Given the description of an element on the screen output the (x, y) to click on. 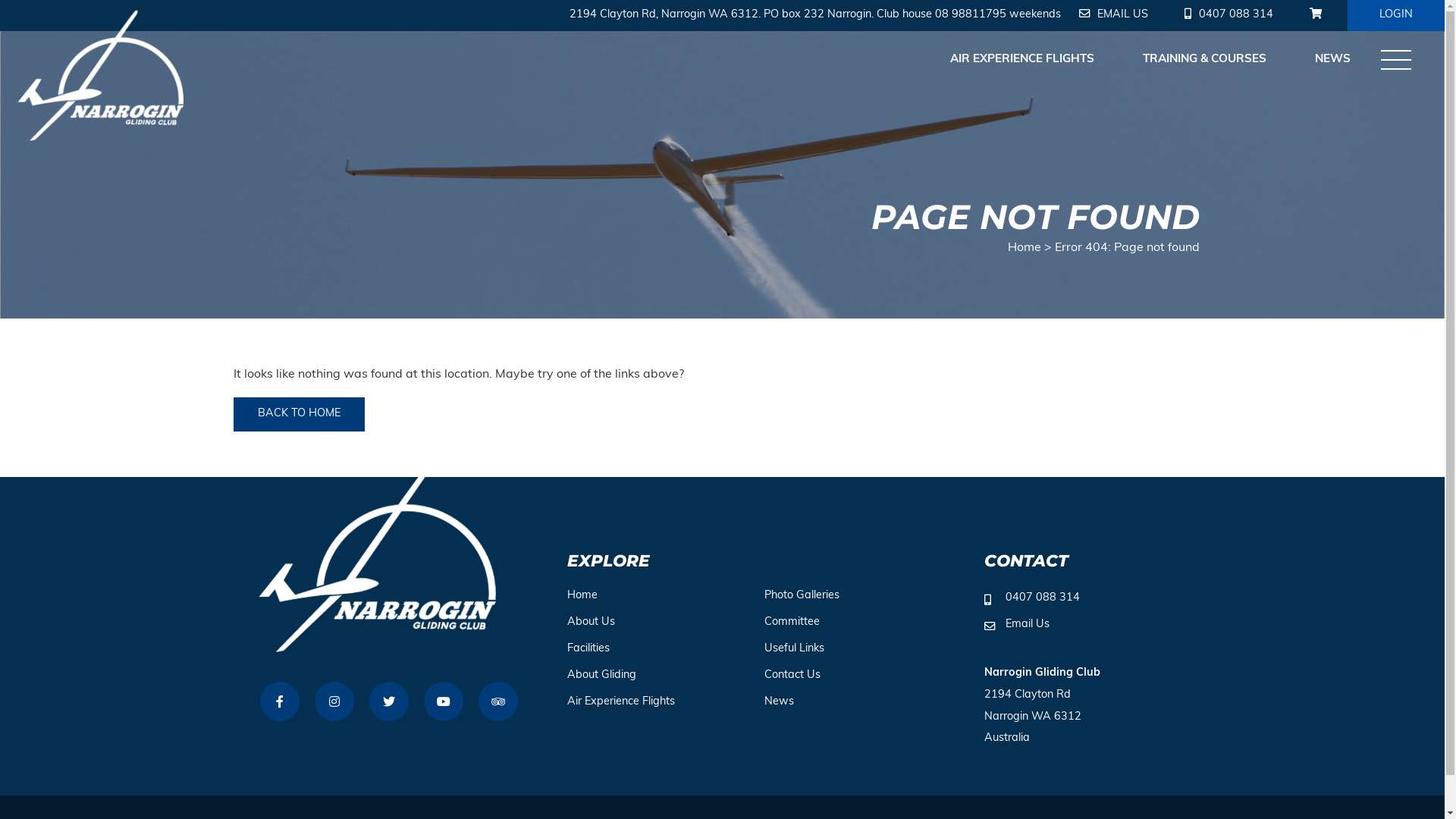
Photo Galleries Element type: text (801, 595)
BACK TO HOME Element type: text (298, 414)
0407 088 314 Element type: text (1031, 598)
Committee Element type: text (791, 621)
Home Element type: text (1023, 247)
Contact Us Element type: text (792, 674)
Home Element type: text (582, 595)
Facilities Element type: text (588, 648)
TRAINING & COURSES Element type: text (1204, 60)
EMAIL US Element type: text (1113, 15)
Email Us Element type: text (1016, 624)
LOGIN Element type: text (1395, 15)
About Gliding Element type: text (601, 674)
Air Experience Flights Element type: text (620, 701)
Useful Links Element type: text (794, 648)
About Us Element type: text (591, 621)
NEWS Element type: text (1332, 60)
AIR EXPERIENCE FLIGHTS Element type: text (1021, 60)
0407 088 314 Element type: text (1228, 15)
News Element type: text (778, 701)
